Given the description of an element on the screen output the (x, y) to click on. 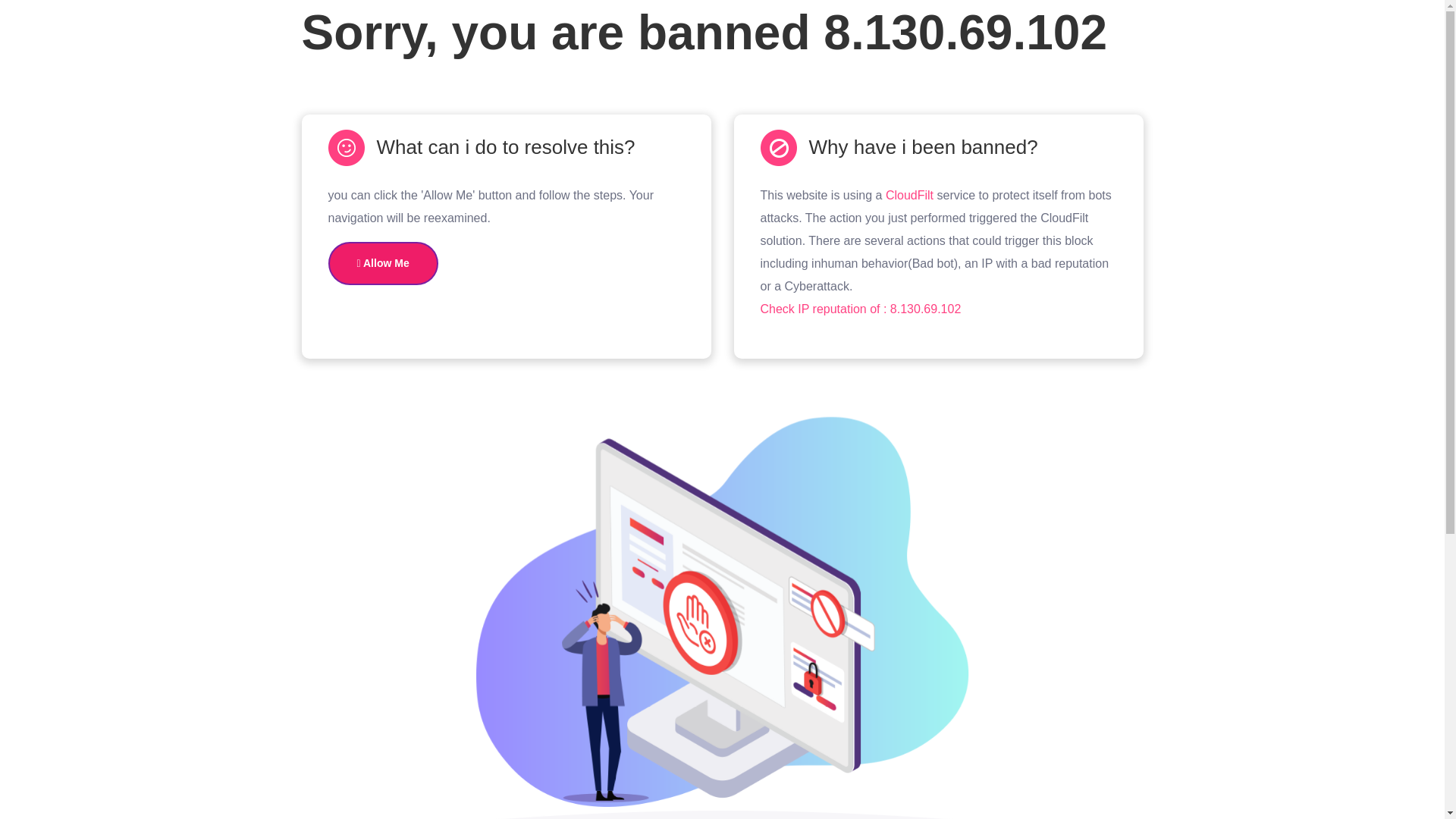
Allow Me (382, 263)
CloudFilt (909, 195)
Check IP reputation of : 8.130.69.102 (860, 308)
